Given the description of an element on the screen output the (x, y) to click on. 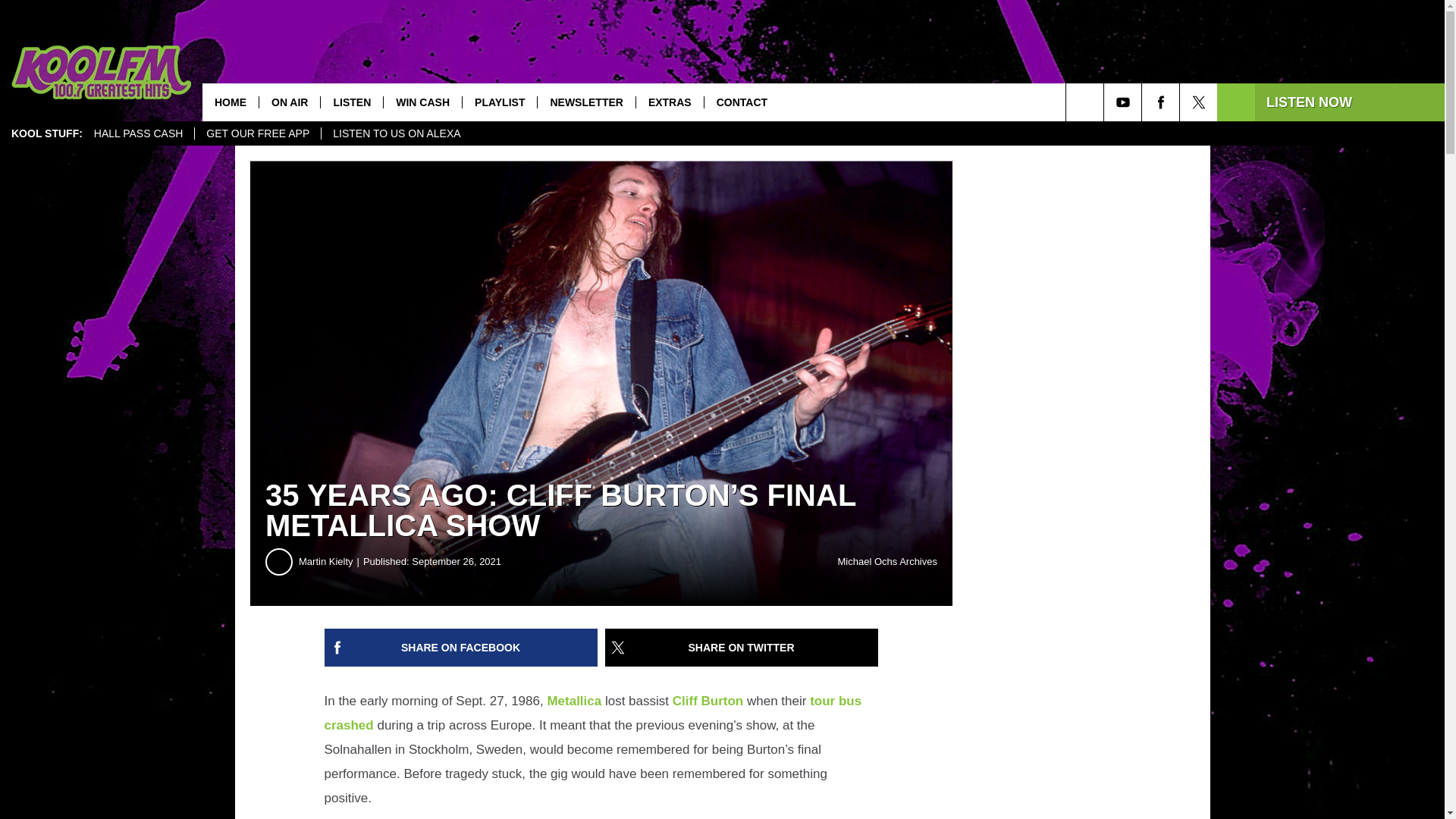
HALL PASS CASH (138, 133)
EXTRAS (668, 102)
GET OUR FREE APP (256, 133)
HOME (230, 102)
NEWSLETTER (585, 102)
ON AIR (289, 102)
PLAYLIST (499, 102)
CONTACT (740, 102)
WIN CASH (421, 102)
LISTEN TO US ON ALEXA (395, 133)
